Given the description of an element on the screen output the (x, y) to click on. 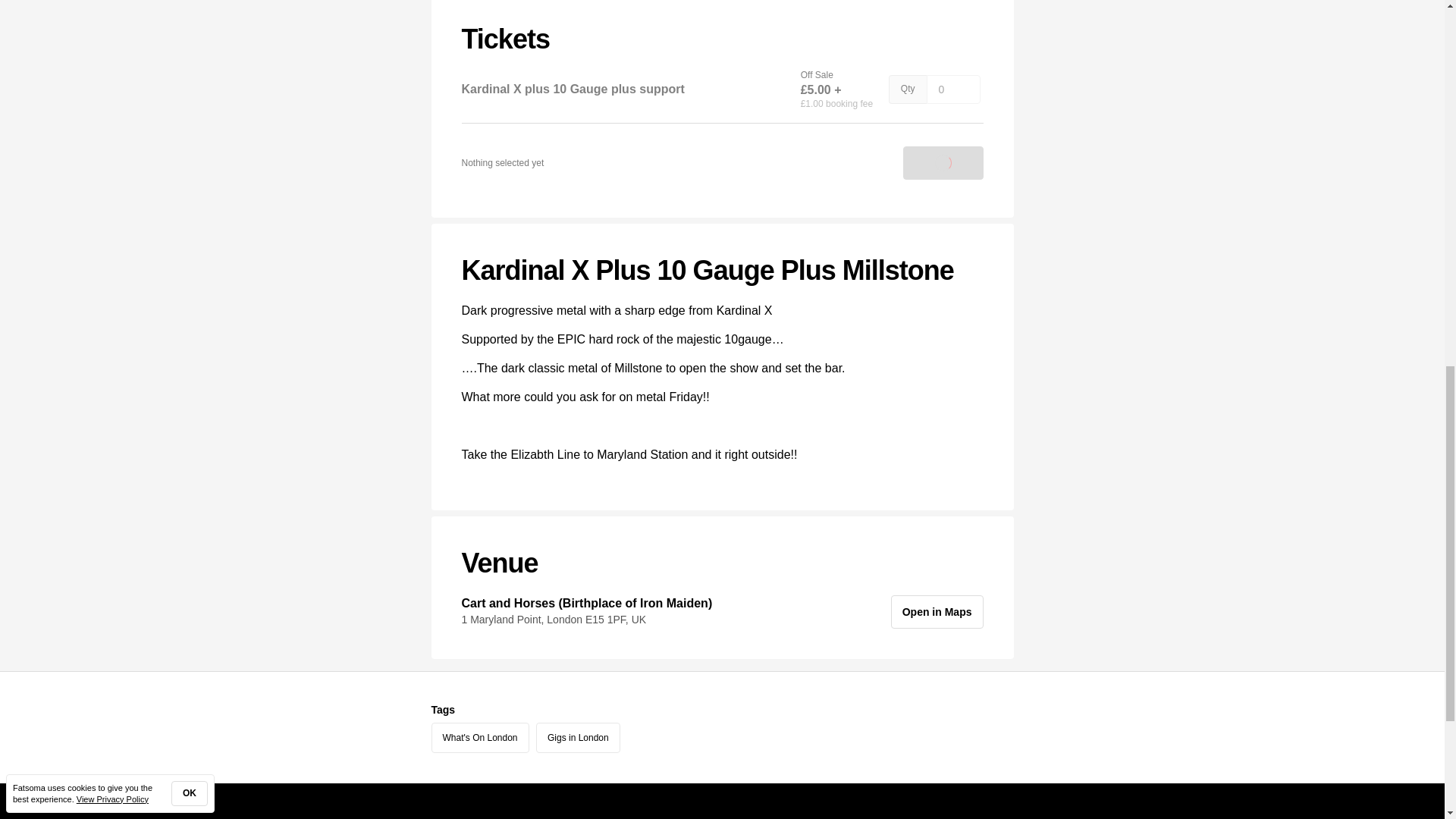
Gigs in London (577, 737)
Open in Maps (937, 611)
What's On London (479, 737)
Loading... (943, 162)
